Given the description of an element on the screen output the (x, y) to click on. 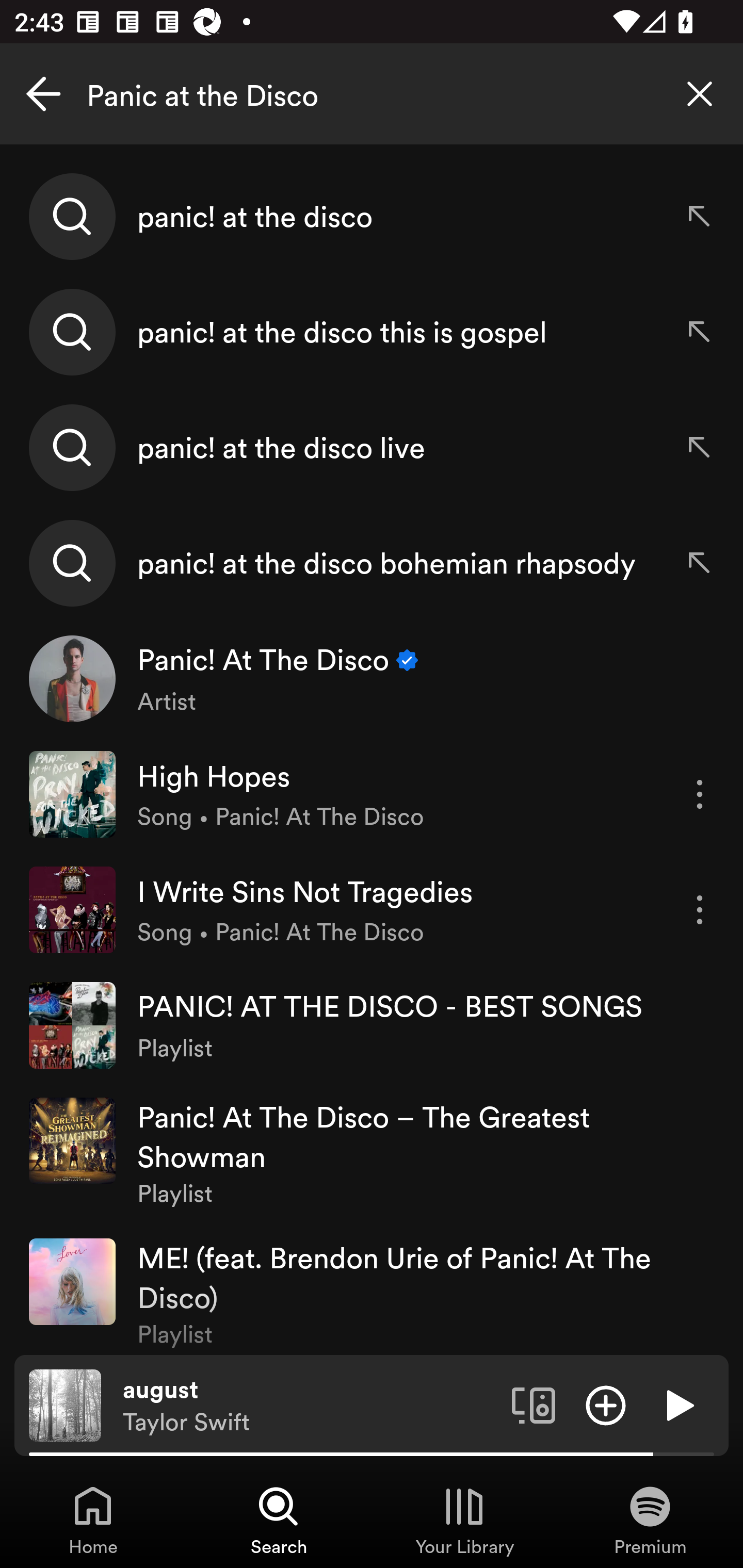
Panic at the Disco (371, 93)
Cancel (43, 93)
Clear search query (699, 93)
panic! at the disco (371, 216)
panic! at the disco this is gospel (371, 332)
panic! at the disco live (371, 447)
panic! at the disco bohemian rhapsody (371, 562)
Panic! At The Disco Verified Artist (371, 678)
More options for song High Hopes (699, 794)
More options for song I Write Sins Not Tragedies (699, 910)
PANIC! AT THE DISCO - BEST SONGS Playlist (371, 1025)
august Taylor Swift (309, 1405)
The cover art of the currently playing track (64, 1404)
Connect to a device. Opens the devices menu (533, 1404)
Add item (605, 1404)
Play (677, 1404)
Home, Tab 1 of 4 Home Home (92, 1519)
Search, Tab 2 of 4 Search Search (278, 1519)
Your Library, Tab 3 of 4 Your Library Your Library (464, 1519)
Premium, Tab 4 of 4 Premium Premium (650, 1519)
